Given the description of an element on the screen output the (x, y) to click on. 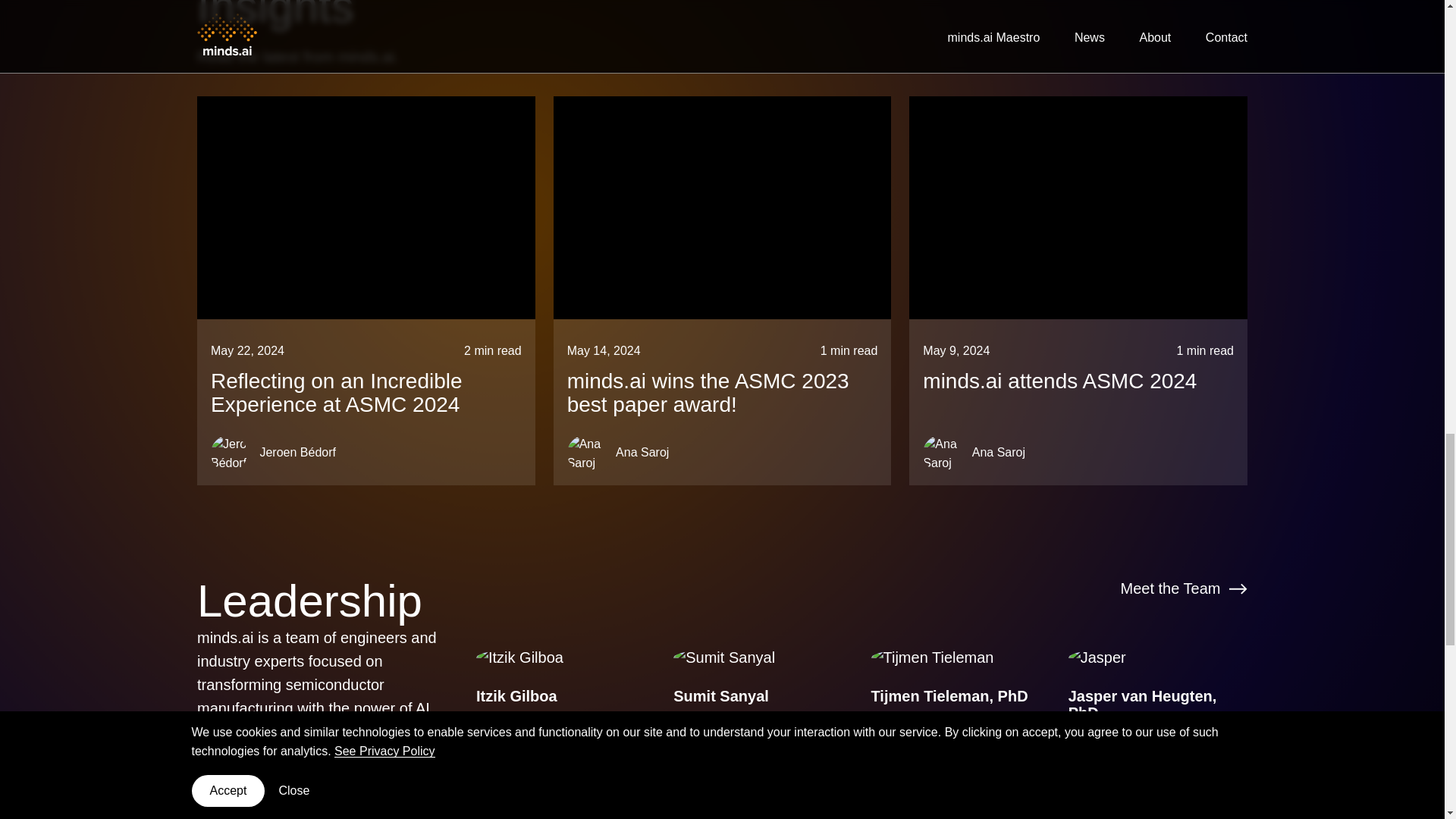
Publications (1114, 789)
minds.ai attends ASMC 2024 (1078, 381)
Publications (916, 773)
View all (1208, 2)
minds.ai wins the ASMC 2023 best paper award! (722, 393)
Meet the Team (1184, 587)
LinkedIn (708, 748)
LinkedIn (1104, 765)
LinkedIn (906, 748)
Reflecting on an Incredible Experience at ASMC 2024 (366, 393)
LinkedIn (512, 748)
